Given the description of an element on the screen output the (x, y) to click on. 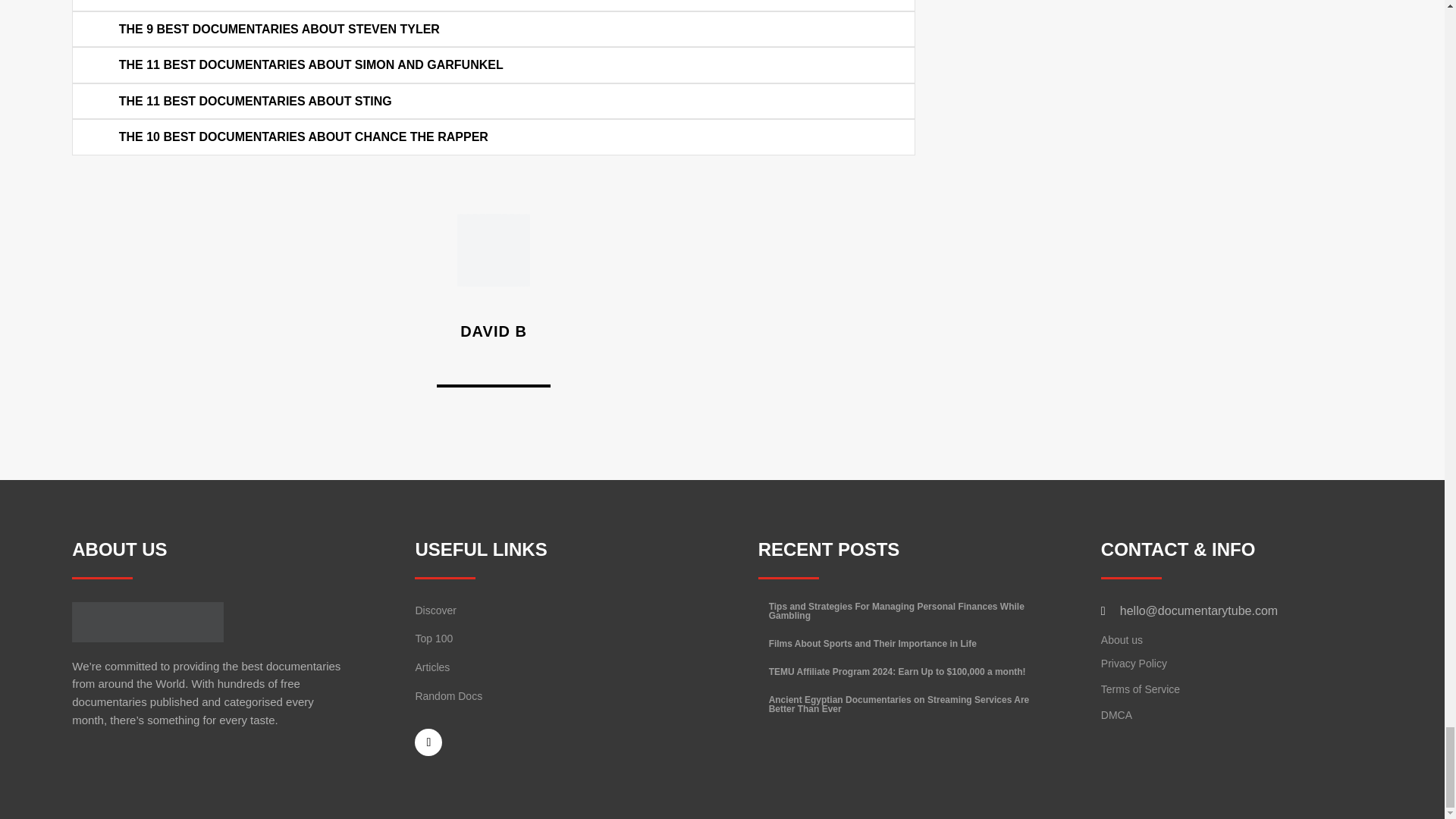
Follow on Facebook (428, 741)
THE 11 BEST DOCUMENTARIES ABOUT SIMON AND GARFUNKEL (311, 65)
THE 9 BEST DOCUMENTARIES ABOUT STEVEN TYLER (279, 29)
THE 10 BEST DOCUMENTARIES ABOUT CHANCE THE RAPPER (303, 136)
THE 11 BEST DOCUMENTARIES ABOUT STING (255, 101)
dc-removebg-preview (147, 621)
